Given the description of an element on the screen output the (x, y) to click on. 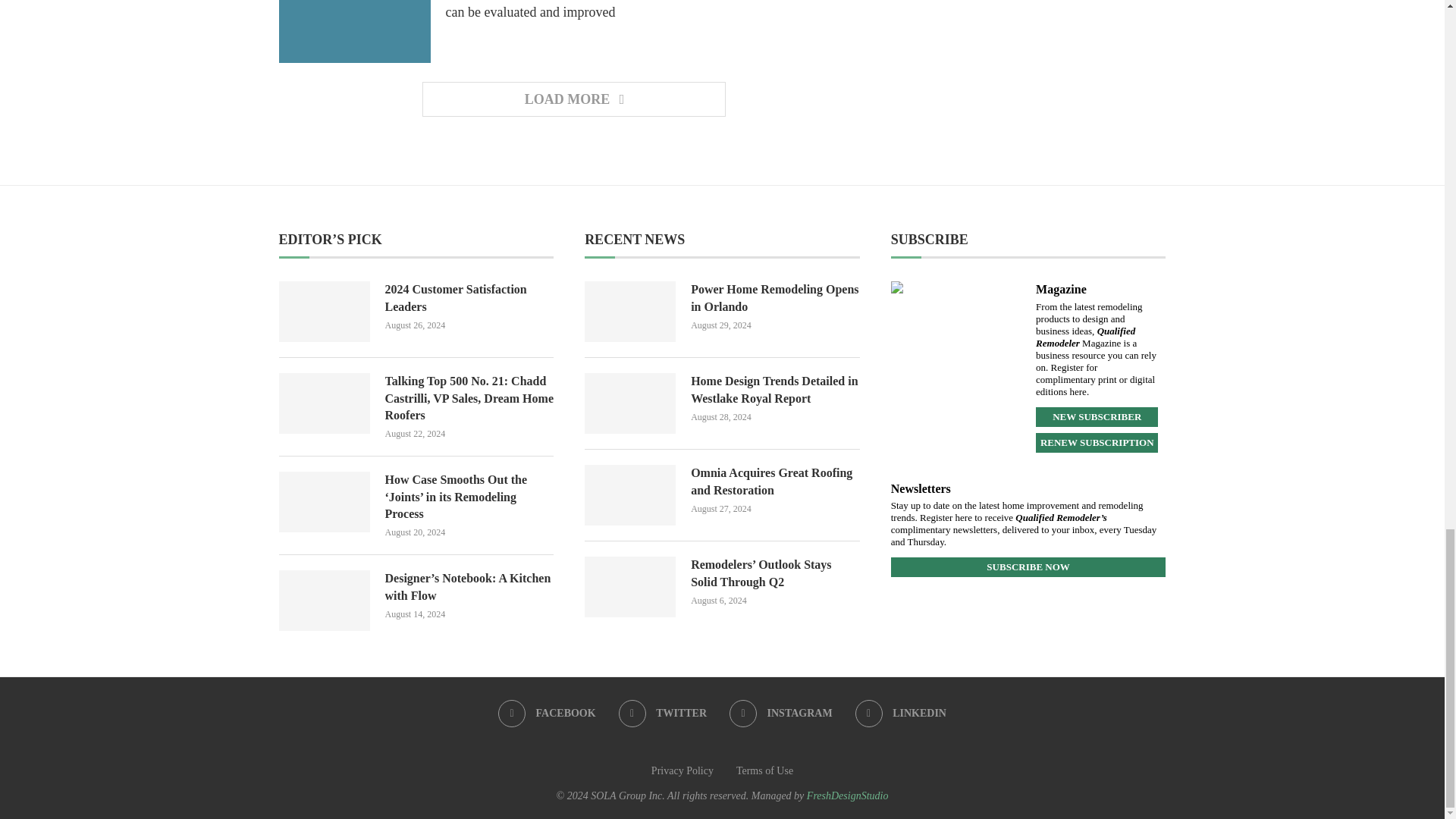
2024 Customer Satisfaction Leaders (469, 298)
2024 Customer Satisfaction Leaders (324, 311)
